Given the description of an element on the screen output the (x, y) to click on. 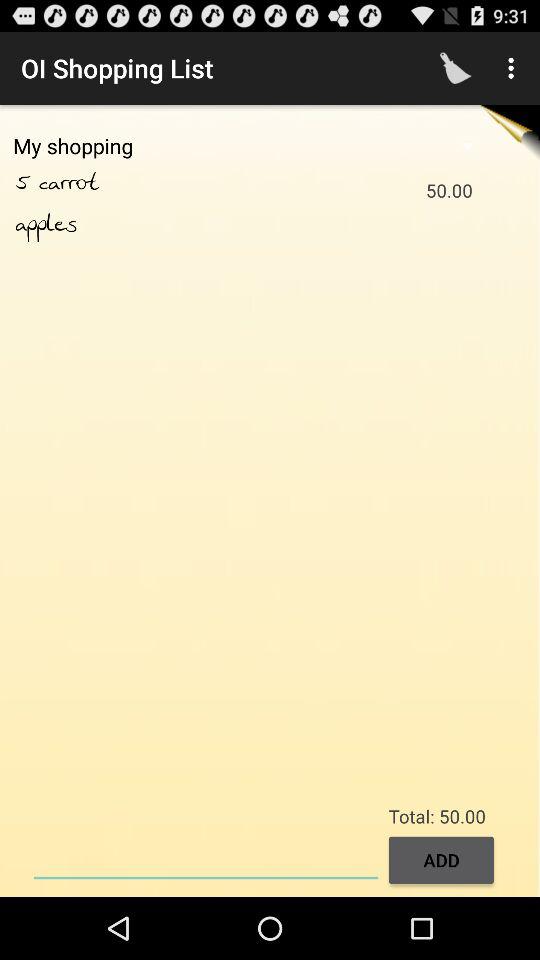
select the app above the apples (27, 183)
